Given the description of an element on the screen output the (x, y) to click on. 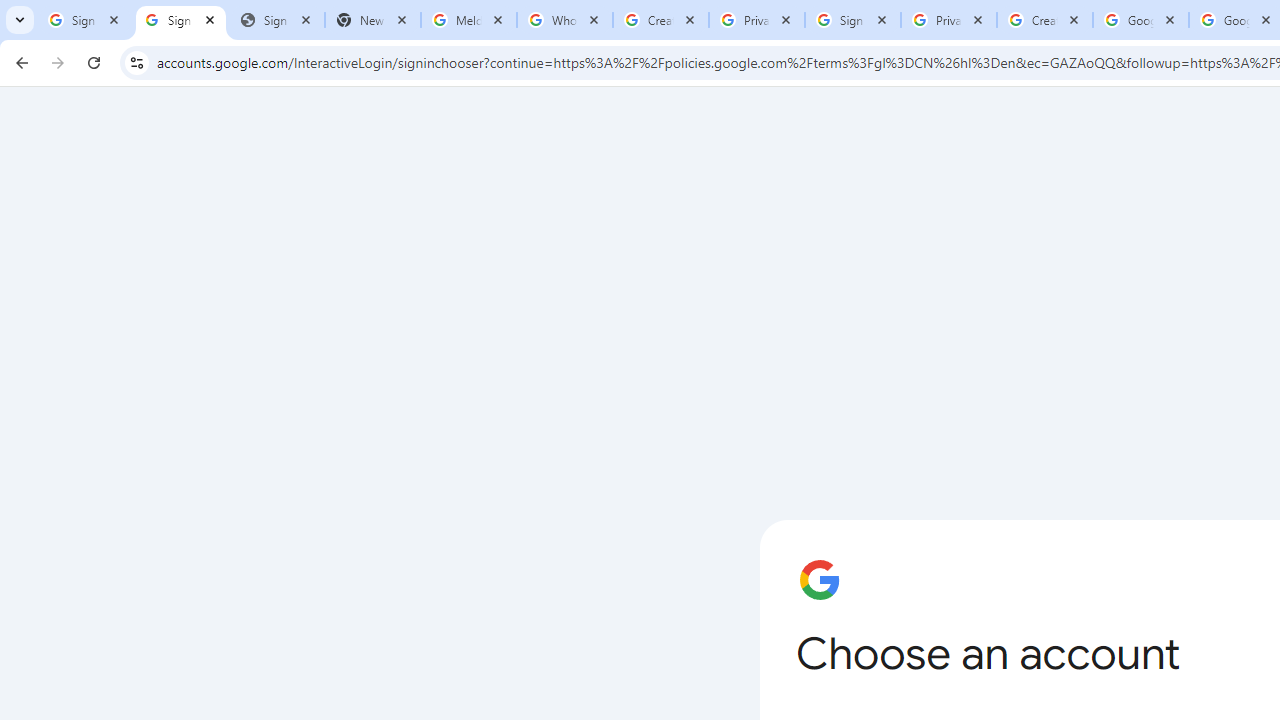
Create your Google Account (1045, 20)
Sign In - USA TODAY (277, 20)
Create your Google Account (661, 20)
New Tab (373, 20)
Sign in - Google Accounts (85, 20)
Who is my administrator? - Google Account Help (565, 20)
Sign in - Google Accounts (181, 20)
